Given the description of an element on the screen output the (x, y) to click on. 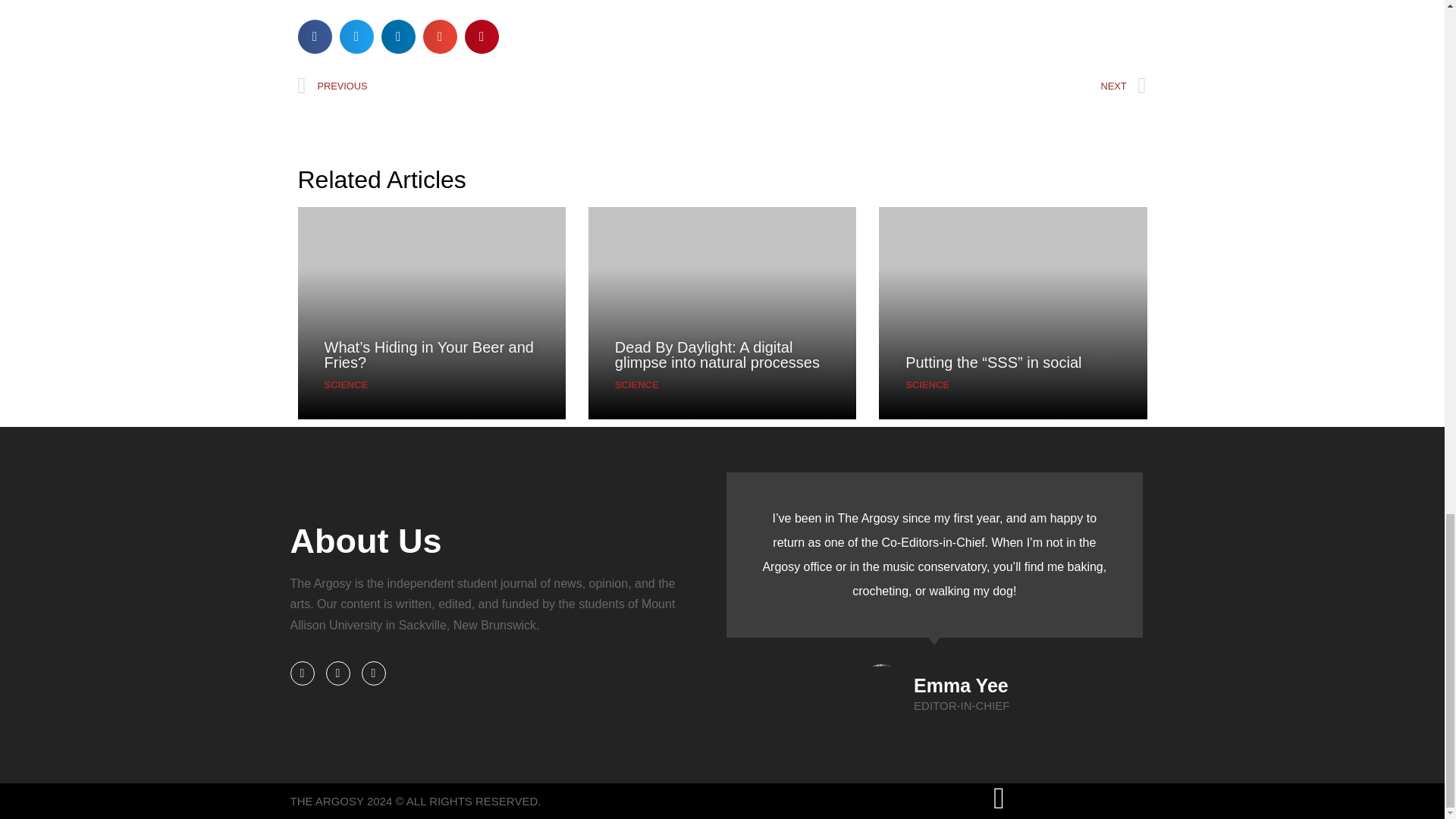
PREVIOUS (509, 85)
NEXT (934, 85)
Dead By Daylight: A digital glimpse into natural processes (716, 355)
